Given the description of an element on the screen output the (x, y) to click on. 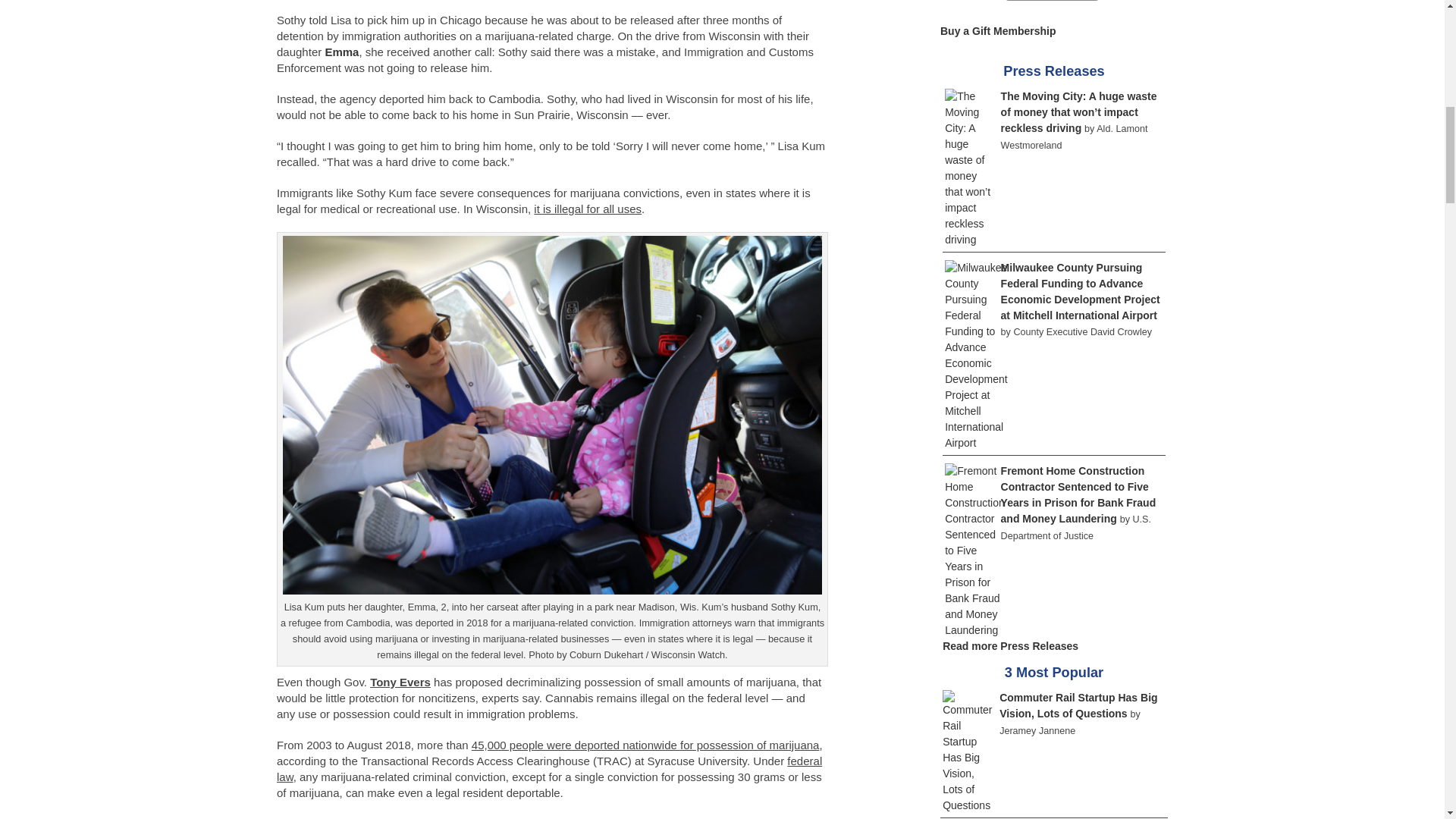
Tony Evers (399, 681)
federal law (549, 768)
Davorin Odrcic (774, 818)
it is illegal for all uses (588, 208)
